Given the description of an element on the screen output the (x, y) to click on. 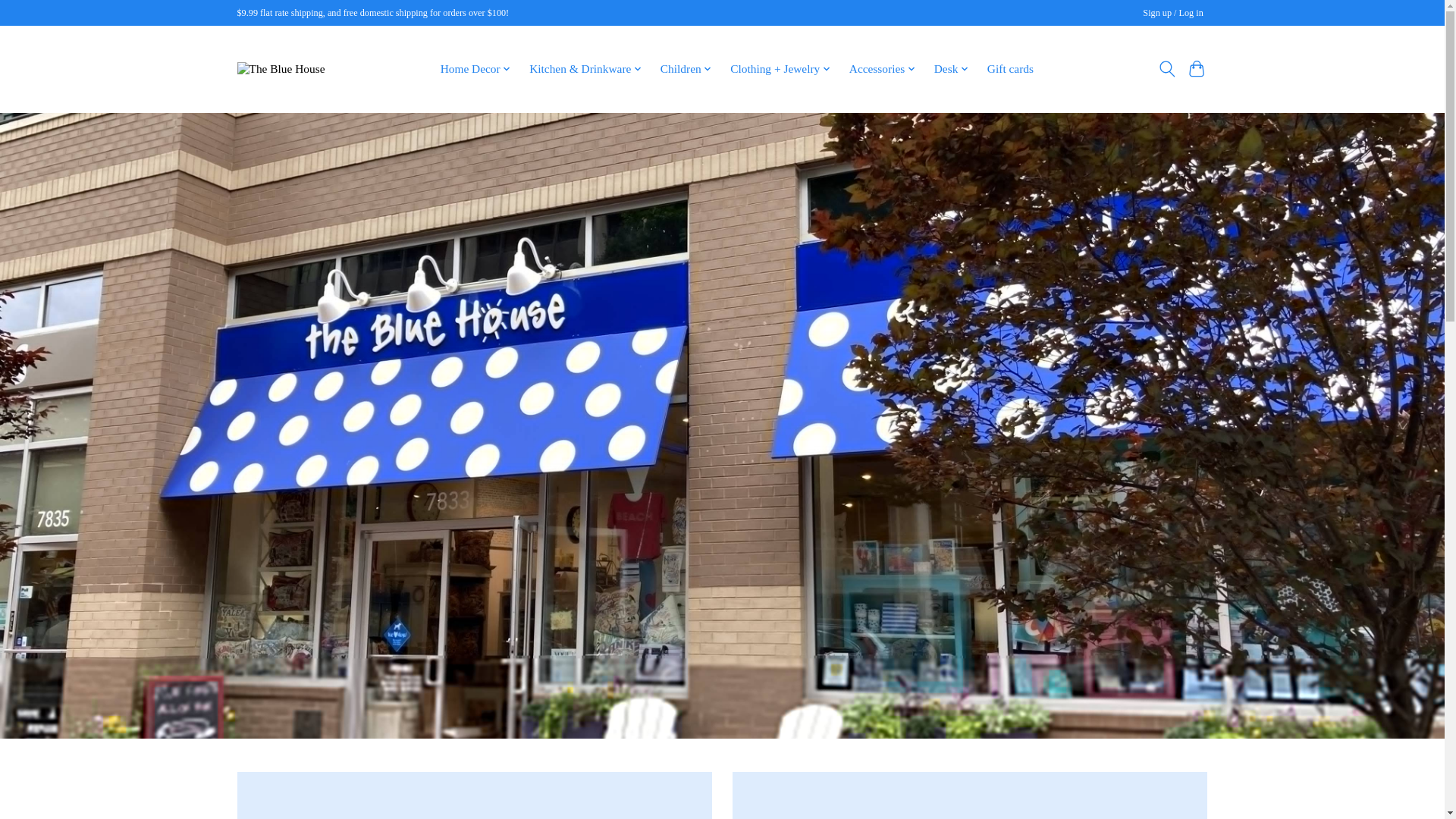
Children (686, 68)
My account (1173, 13)
Home Decor (474, 68)
The Blue House (279, 69)
Accessories (882, 68)
